Given the description of an element on the screen output the (x, y) to click on. 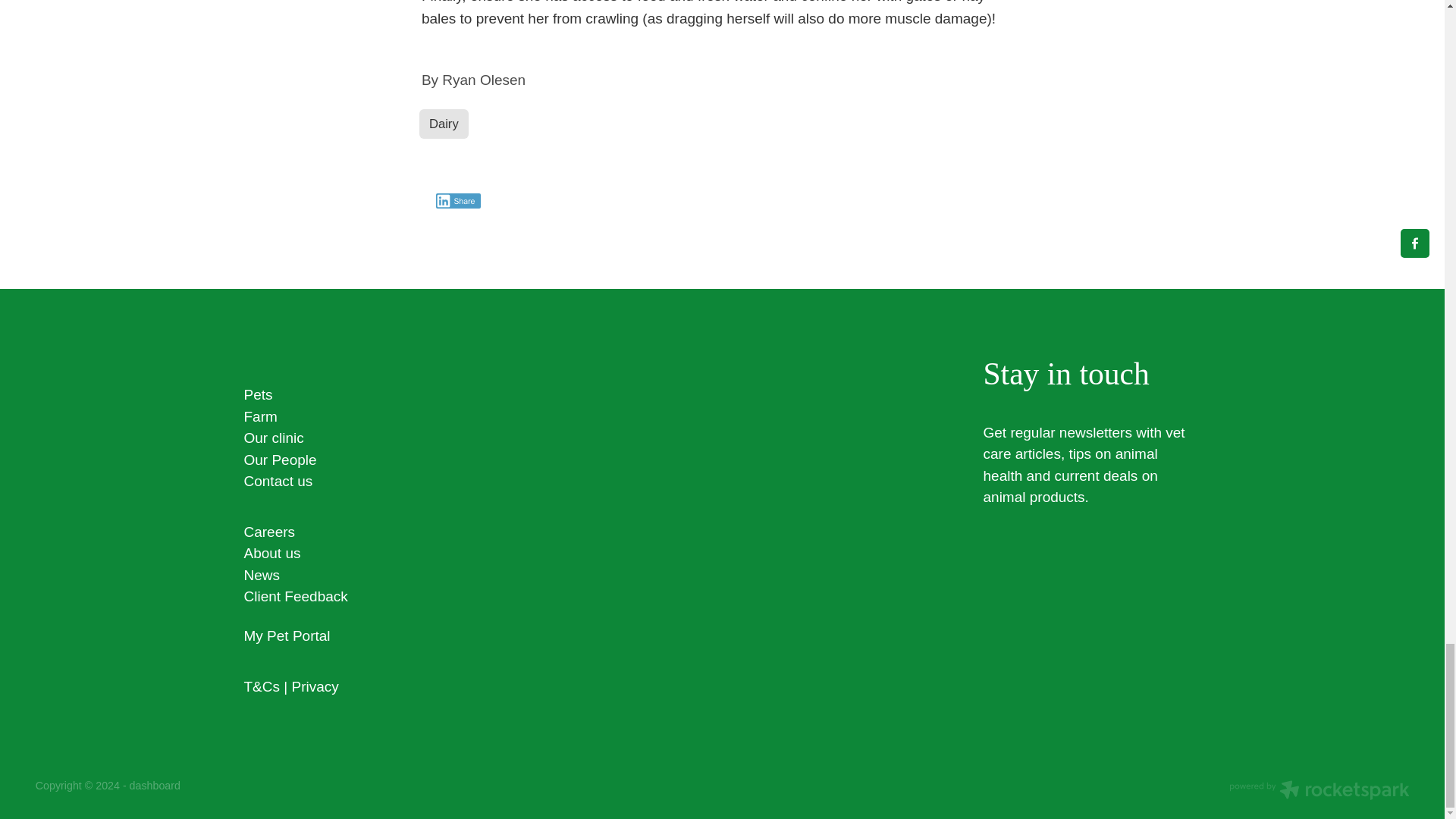
Rocketspark website builder (1318, 791)
